Given the description of an element on the screen output the (x, y) to click on. 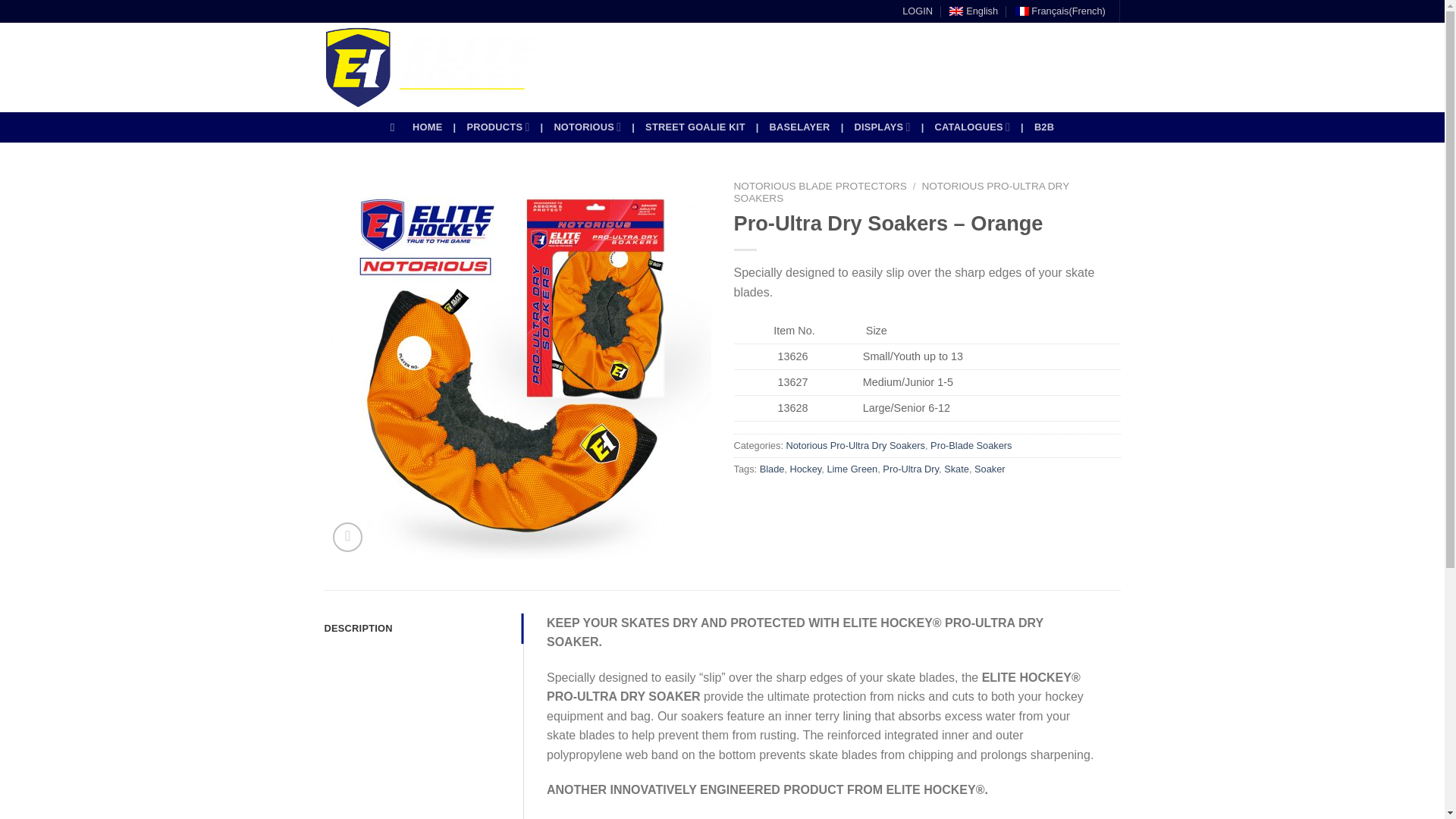
English (973, 11)
French (1059, 11)
PRODUCTS (497, 126)
English (973, 11)
LOGIN (917, 11)
Zoom (347, 537)
NOTORIOUS (587, 126)
Elite Hockey - TRUE TO THE GAME (432, 67)
HOME (427, 126)
